Given the description of an element on the screen output the (x, y) to click on. 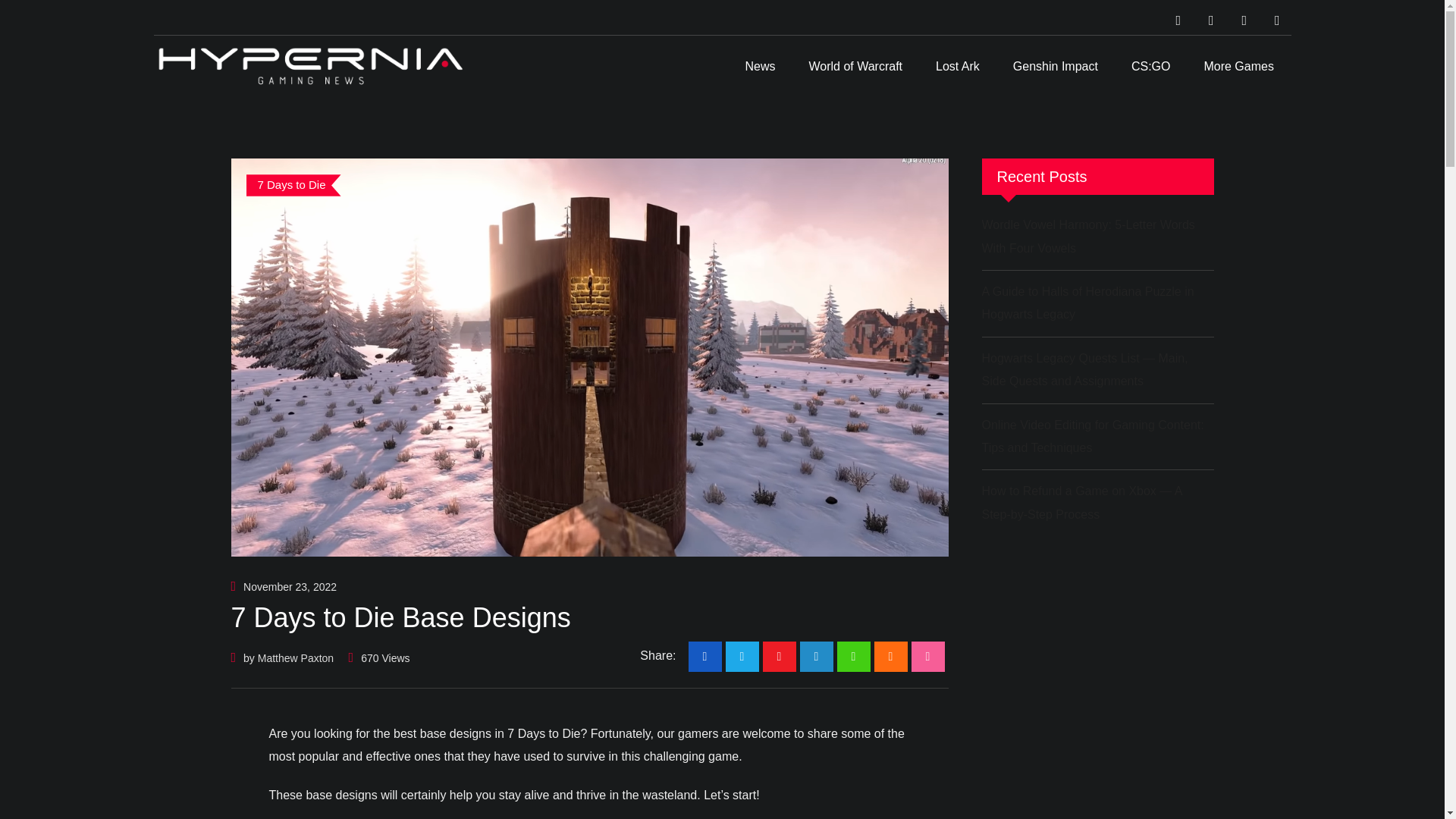
Genshin Impact (1055, 66)
7 Days to Die (293, 184)
More Games (1238, 66)
Posts by Matthew Paxton (295, 657)
News (760, 66)
Lost Ark (956, 66)
World of Warcraft (855, 66)
Matthew Paxton (295, 657)
CS:GO (1151, 66)
